Given the description of an element on the screen output the (x, y) to click on. 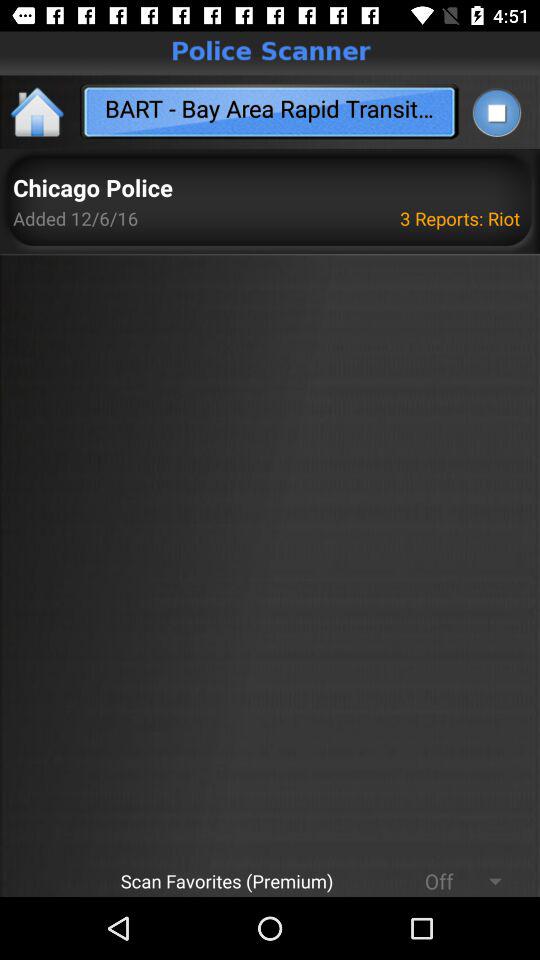
open the app to the left of 3 reports: riot app (92, 188)
